Given the description of an element on the screen output the (x, y) to click on. 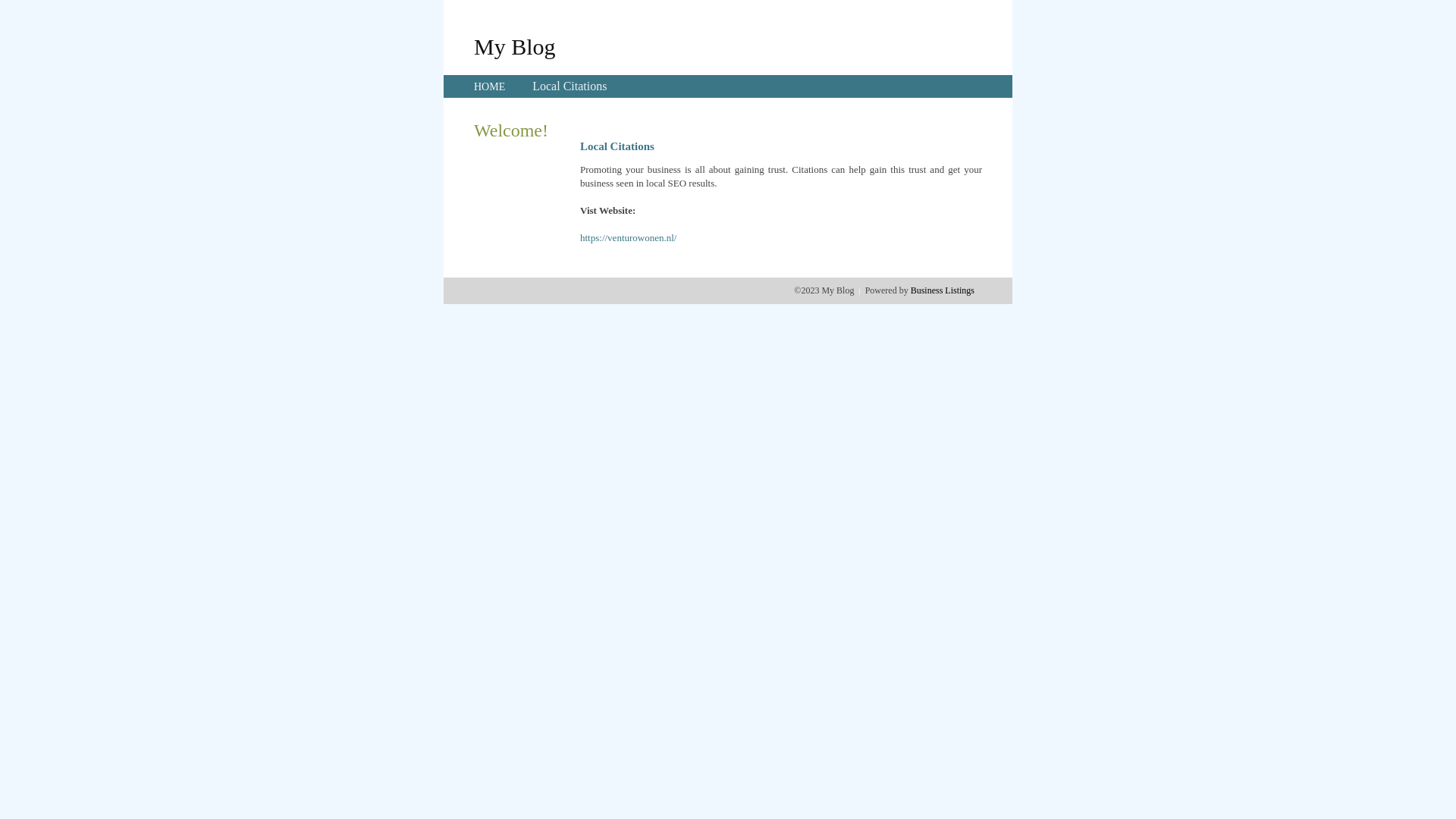
HOME Element type: text (489, 86)
Local Citations Element type: text (569, 85)
Business Listings Element type: text (942, 290)
My Blog Element type: text (514, 46)
https://venturowonen.nl/ Element type: text (628, 237)
